Given the description of an element on the screen output the (x, y) to click on. 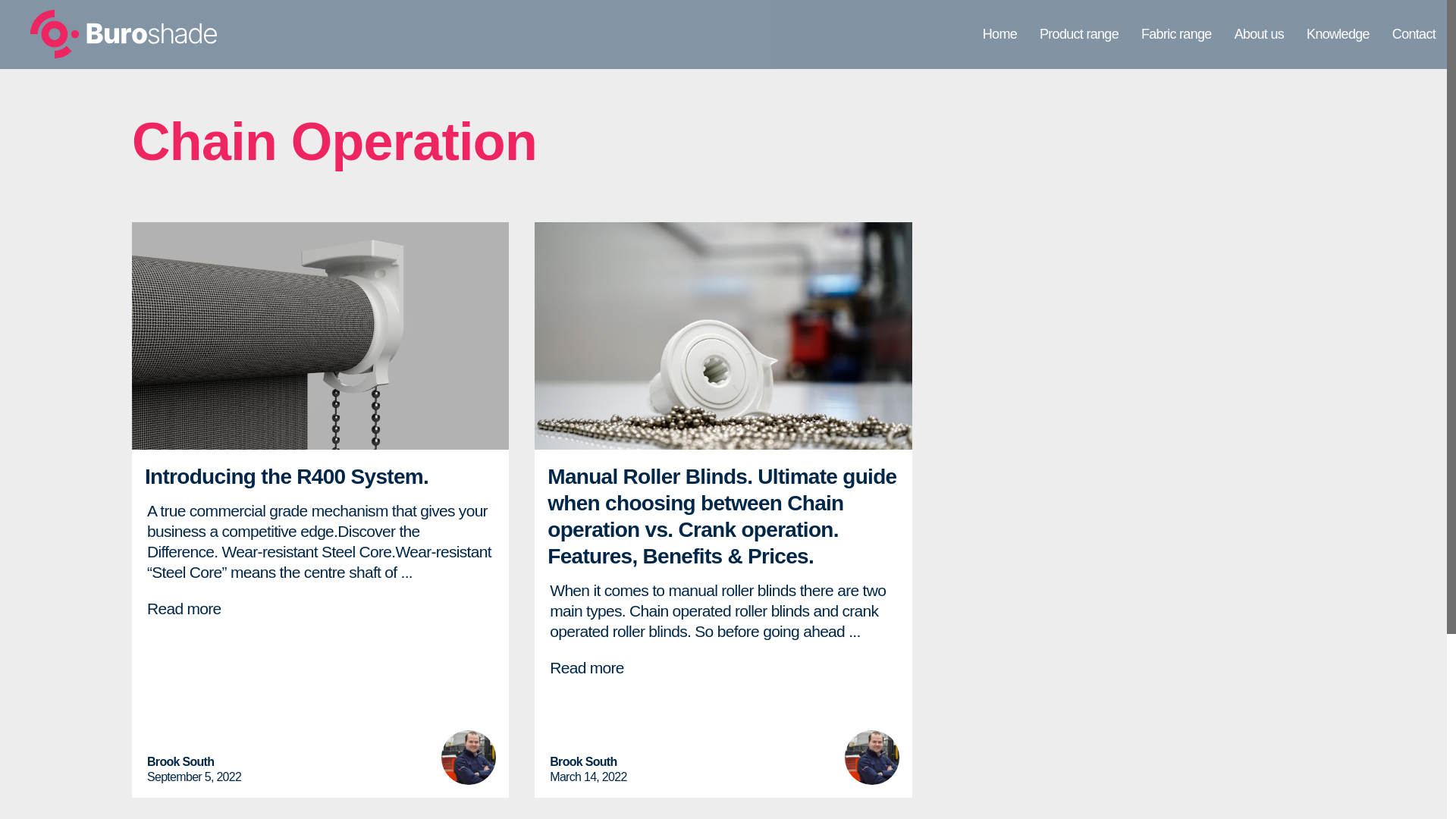
Knowledge (1337, 34)
Read more (184, 608)
About us (1259, 34)
Read more (587, 667)
Introducing the R400 System. (286, 476)
Home (999, 34)
Product range (1078, 34)
Fabric range (1176, 34)
